Given the description of an element on the screen output the (x, y) to click on. 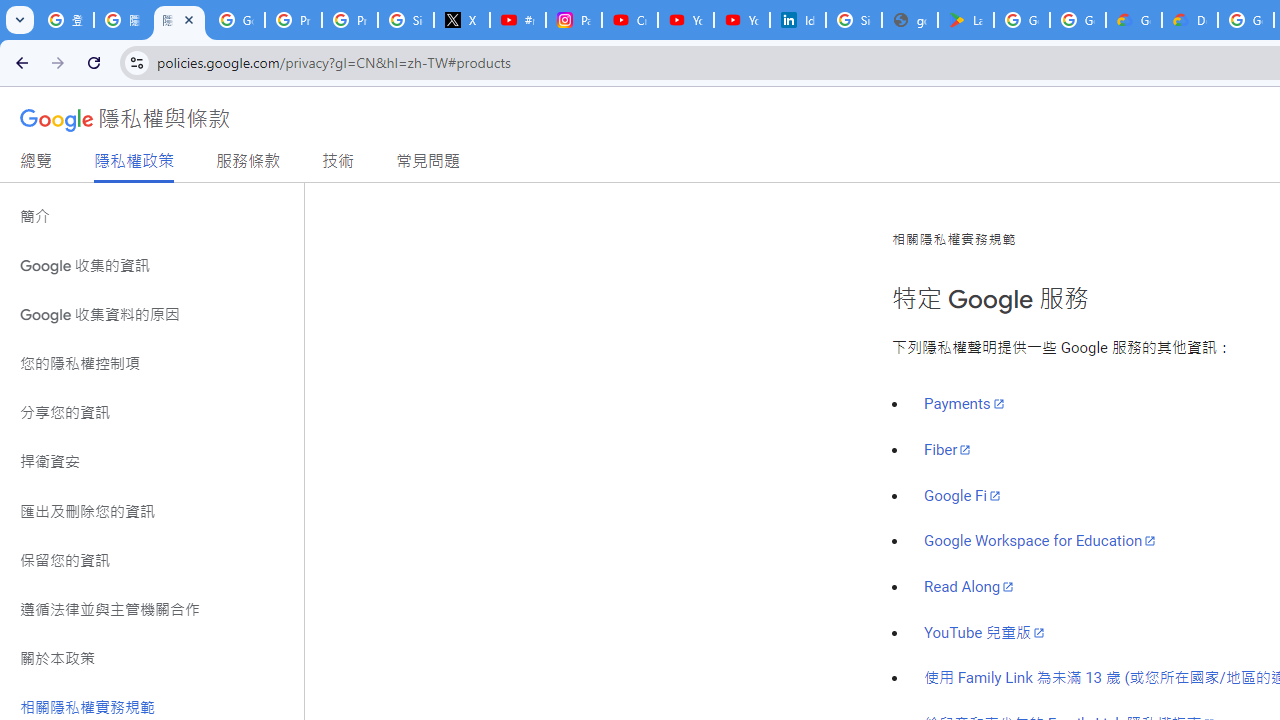
Fiber (947, 449)
Sign in - Google Accounts (405, 20)
Government | Google Cloud (1133, 20)
Privacy Help Center - Policies Help (349, 20)
